Given the description of an element on the screen output the (x, y) to click on. 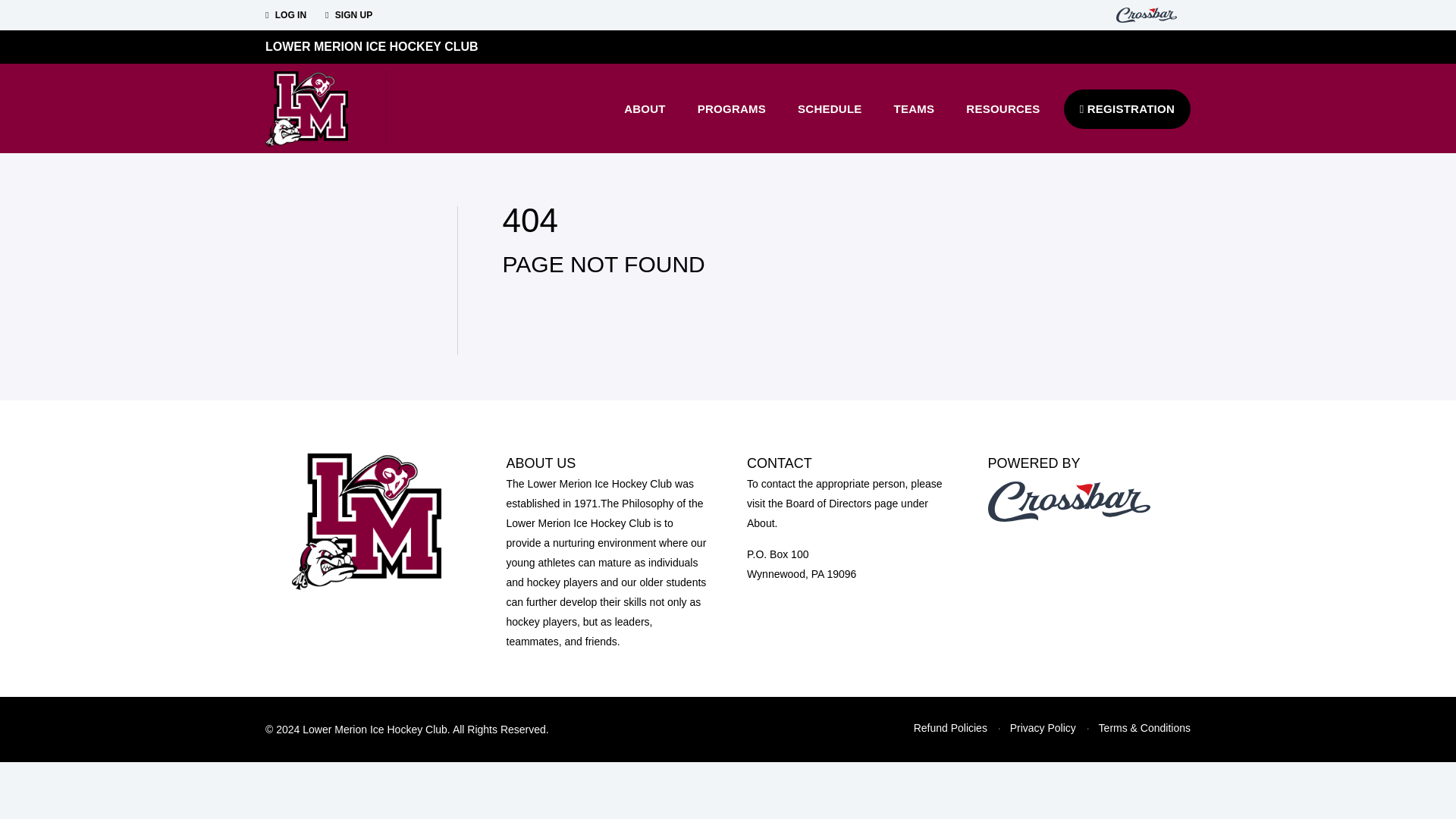
LOG IN (284, 15)
TEAMS (913, 108)
SCHEDULE (829, 108)
PROGRAMS (731, 108)
LOWER MERION ICE HOCKEY CLUB (371, 46)
ABOUT (644, 108)
SIGN UP (348, 15)
